Given the description of an element on the screen output the (x, y) to click on. 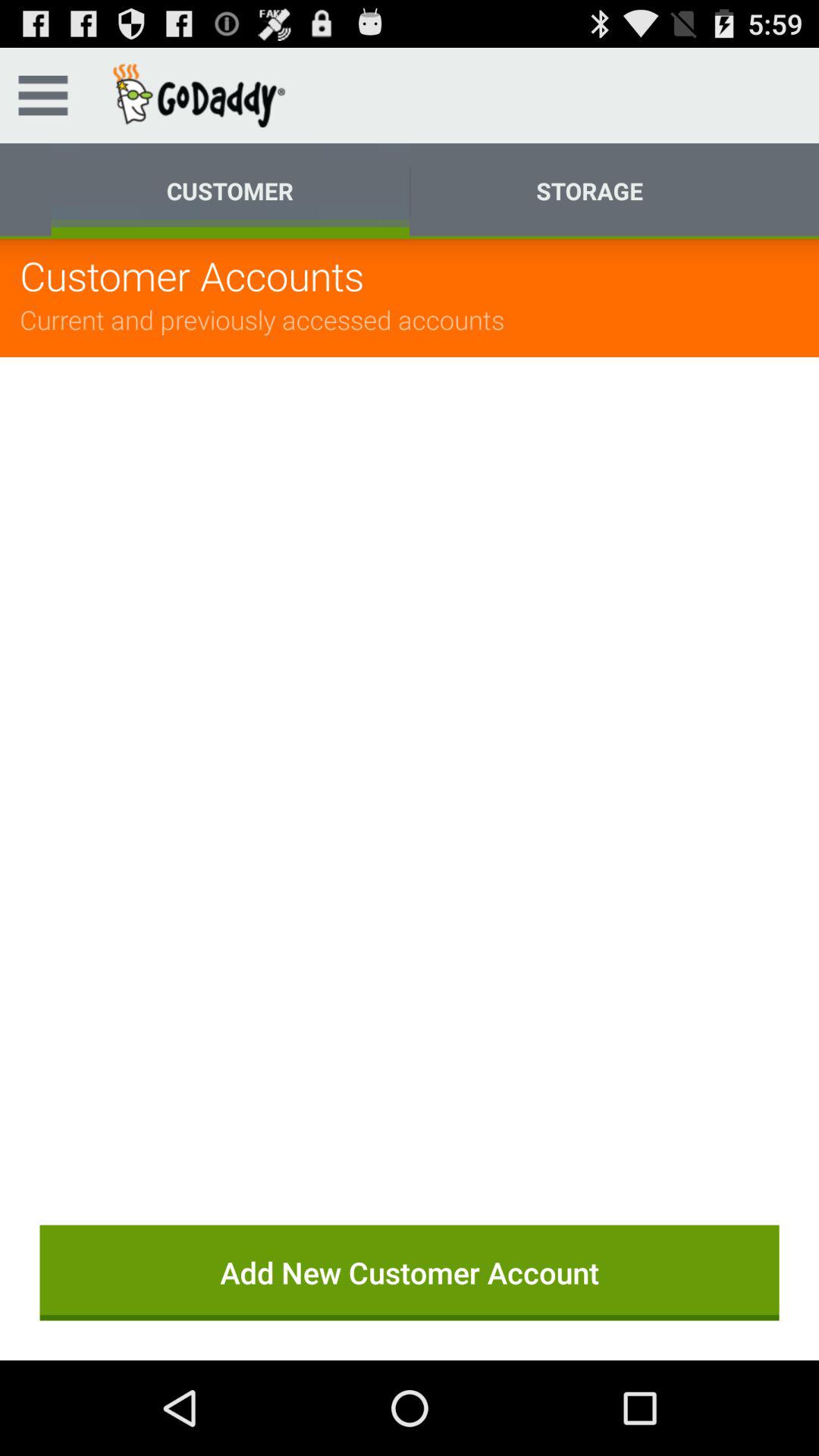
press the button at the bottom (409, 1272)
